Given the description of an element on the screen output the (x, y) to click on. 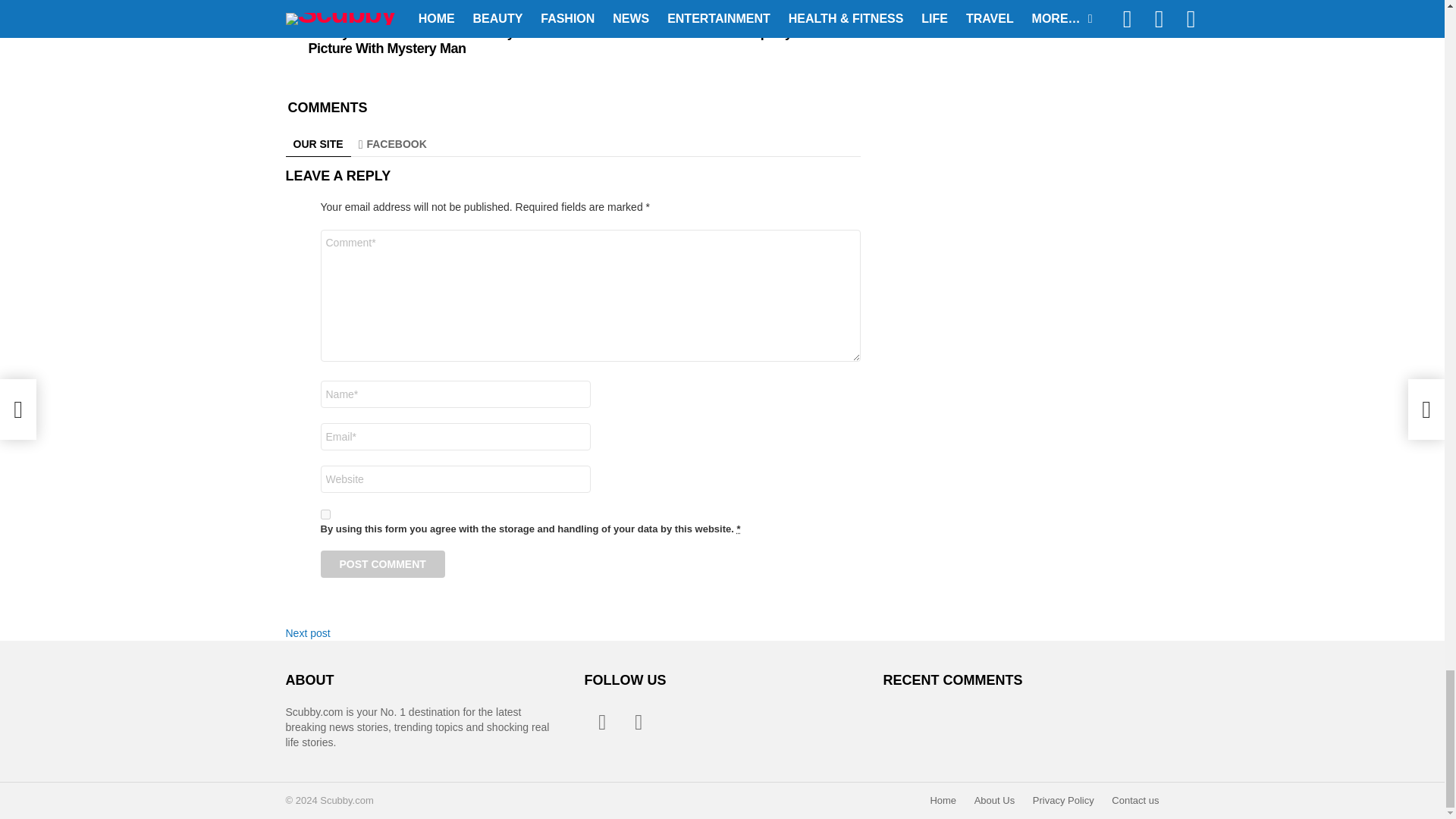
1 (325, 514)
Post Comment (382, 564)
OUR SITE (317, 144)
